Given the description of an element on the screen output the (x, y) to click on. 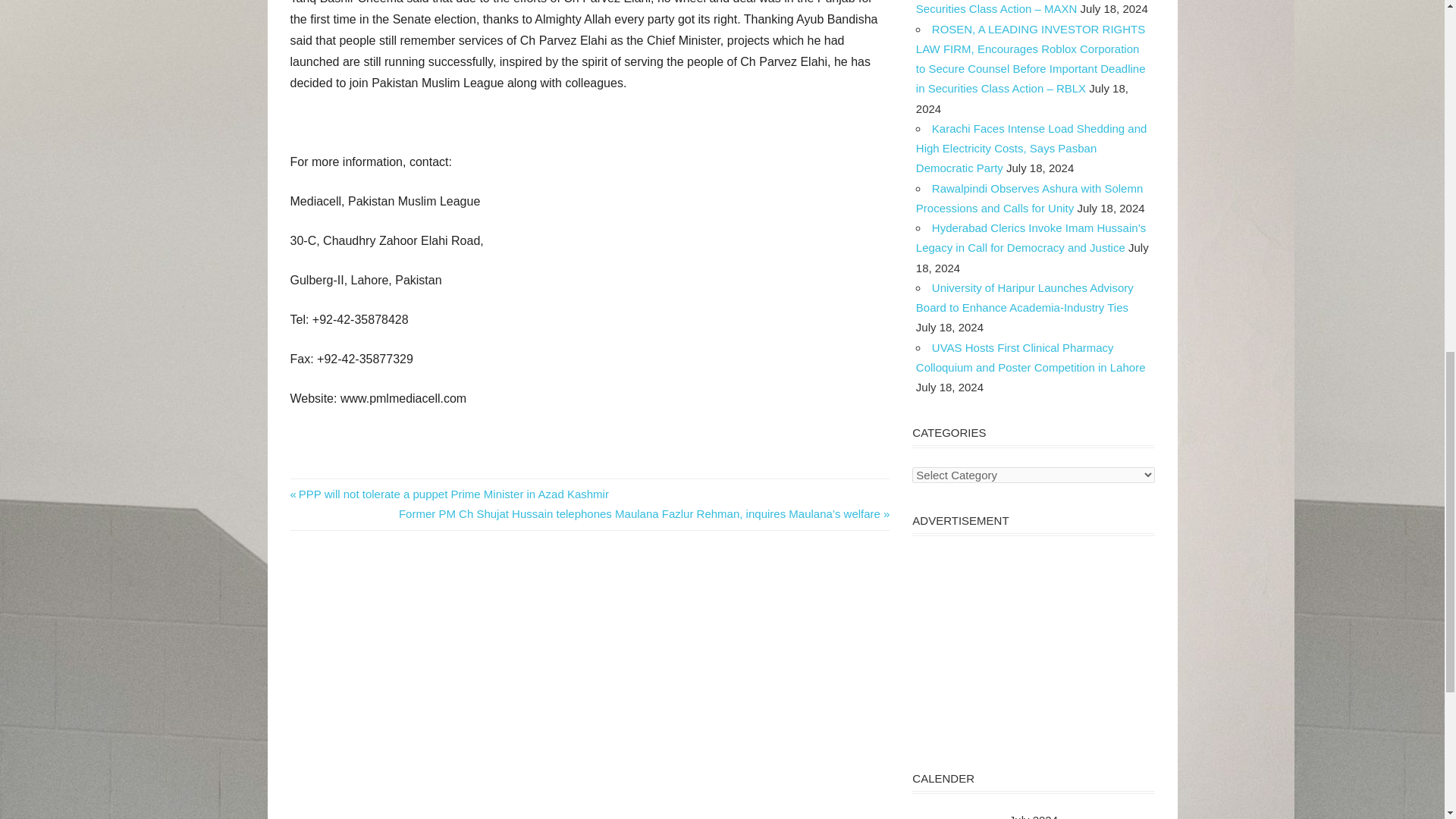
Pakistan Muslim League (311, 503)
